Given the description of an element on the screen output the (x, y) to click on. 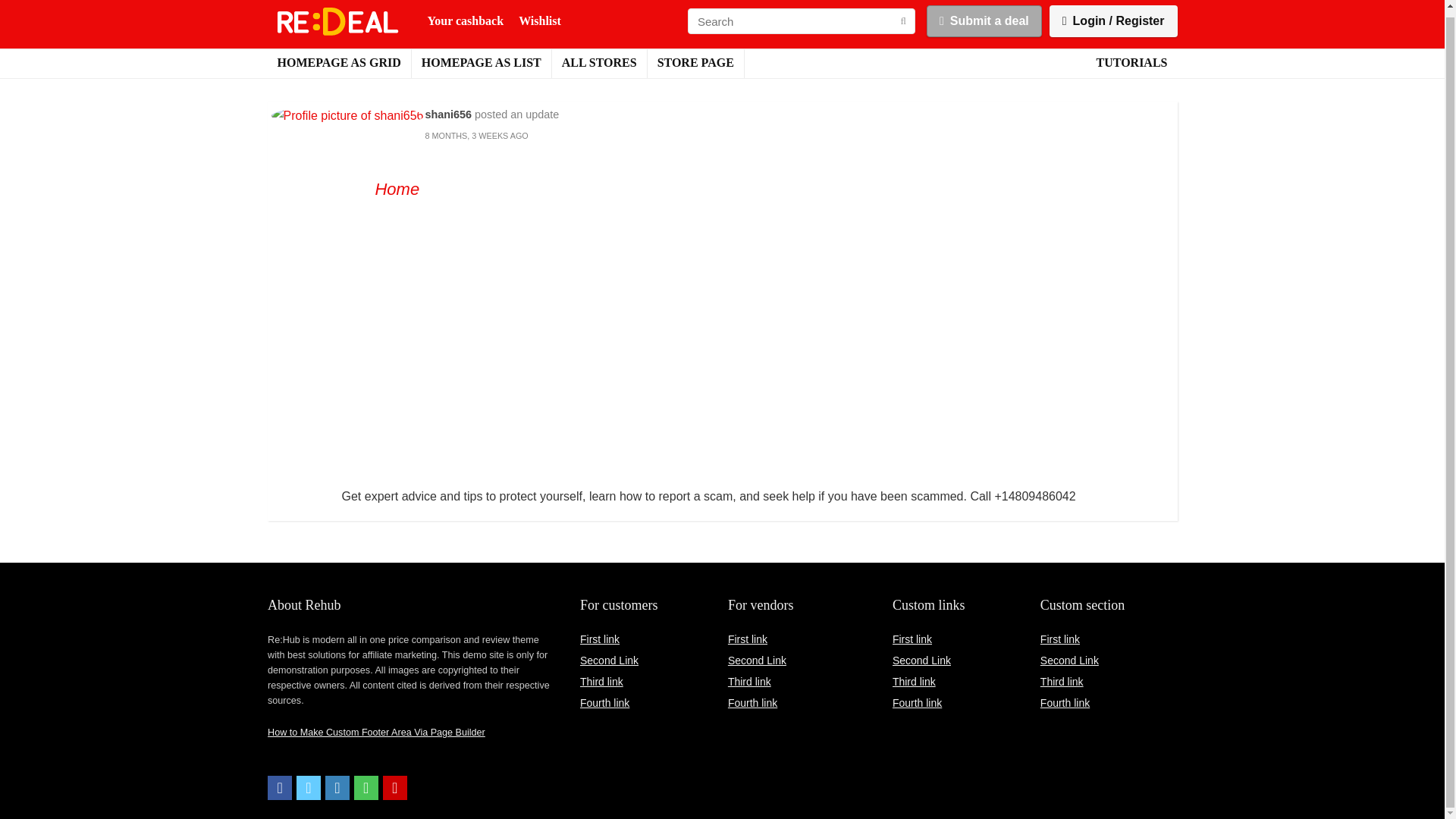
Second Link (757, 660)
Second Link (1070, 660)
Your cashback (465, 20)
HOMEPAGE AS GRID (338, 63)
Home (396, 189)
First link (1060, 639)
Second Link (921, 660)
Third link (1062, 681)
Fourth link (752, 702)
STORE PAGE (695, 63)
ALL STORES (598, 63)
TUTORIALS (1131, 63)
Third link (749, 681)
Second Link (609, 660)
First link (599, 639)
